Given the description of an element on the screen output the (x, y) to click on. 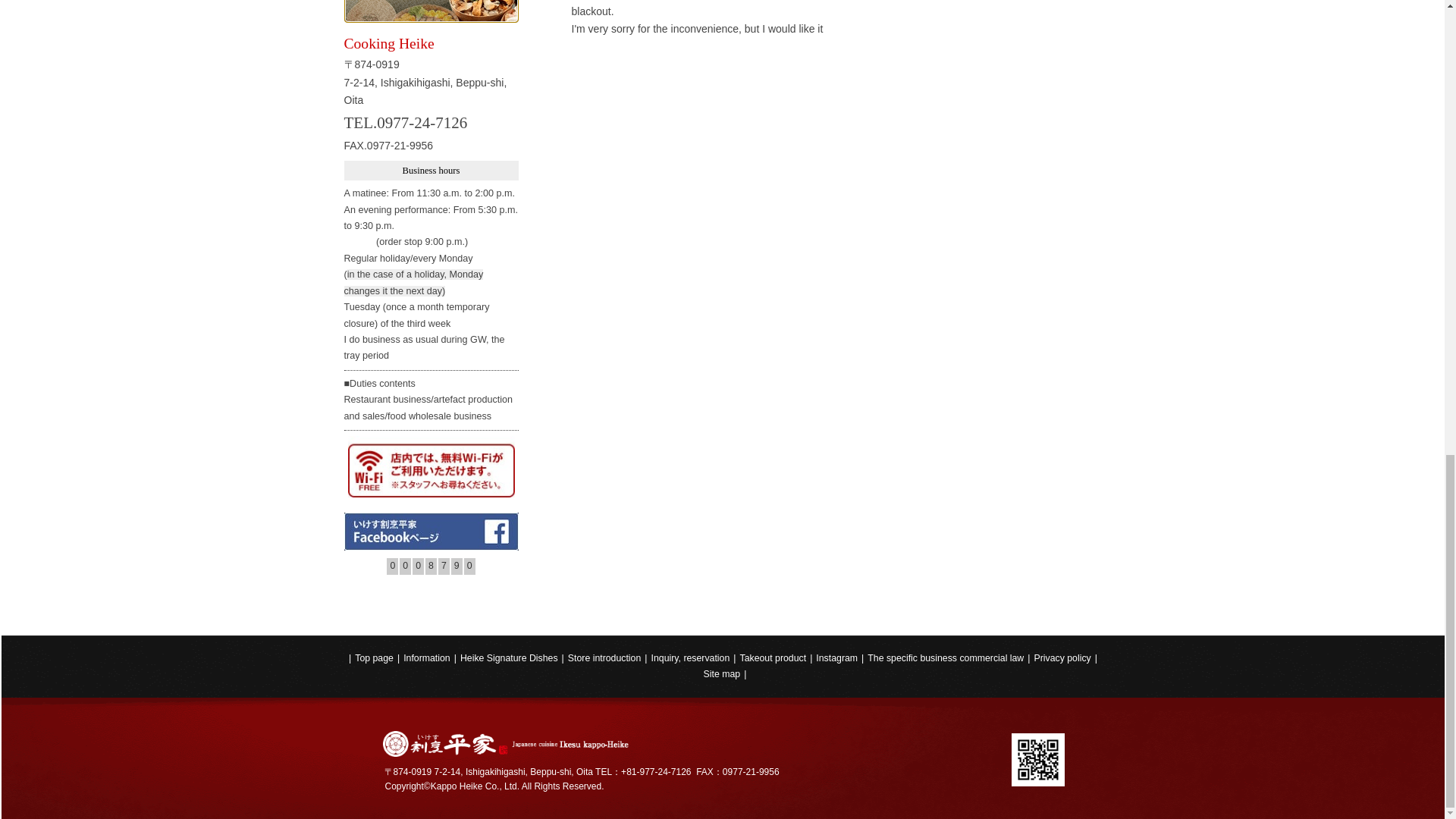
Information (426, 658)
Top page (373, 658)
Store introduction (604, 658)
About the purchase of the Cooking Heike original product (430, 11)
Heike Signature Dishes (509, 658)
"Fish preserve cooking Heike" formula Facebook page (430, 531)
Inquiry, reservation (690, 658)
